Given the description of an element on the screen output the (x, y) to click on. 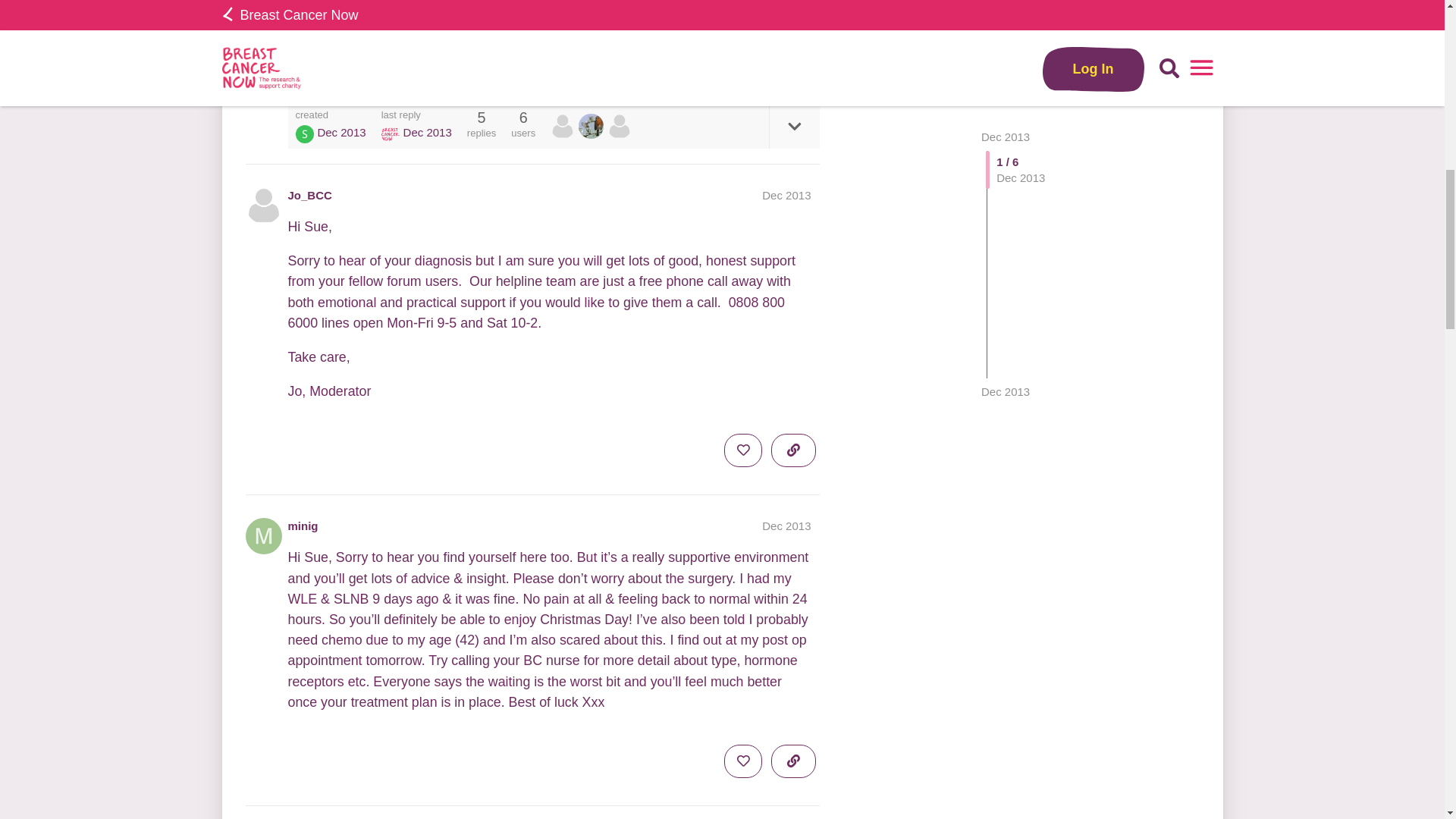
13 Dec 2013 00:22 (427, 132)
Dec 2013 (785, 194)
like this post (742, 59)
last reply (416, 114)
system (389, 133)
13 Dec 2013 00:22 (1005, 20)
Dec 2013 (1005, 20)
system (562, 125)
minig (303, 525)
10 Dec 2013 04:38 (341, 132)
expand topic details (793, 126)
system (564, 125)
Dec 2013 (785, 525)
copy a link to this post to clipboard (793, 59)
Sue123 (304, 133)
